Given the description of an element on the screen output the (x, y) to click on. 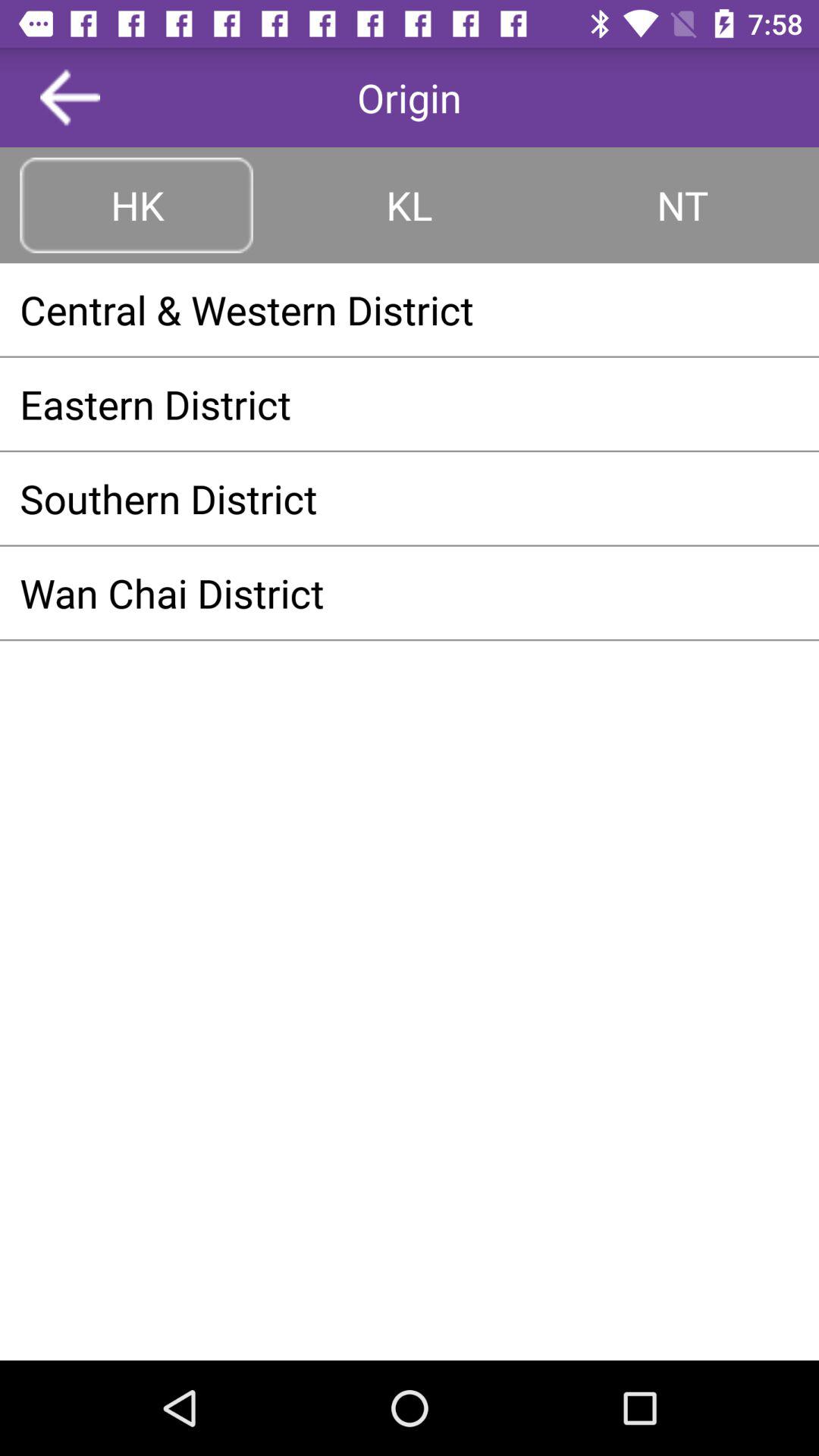
open item at the top right corner (682, 205)
